Given the description of an element on the screen output the (x, y) to click on. 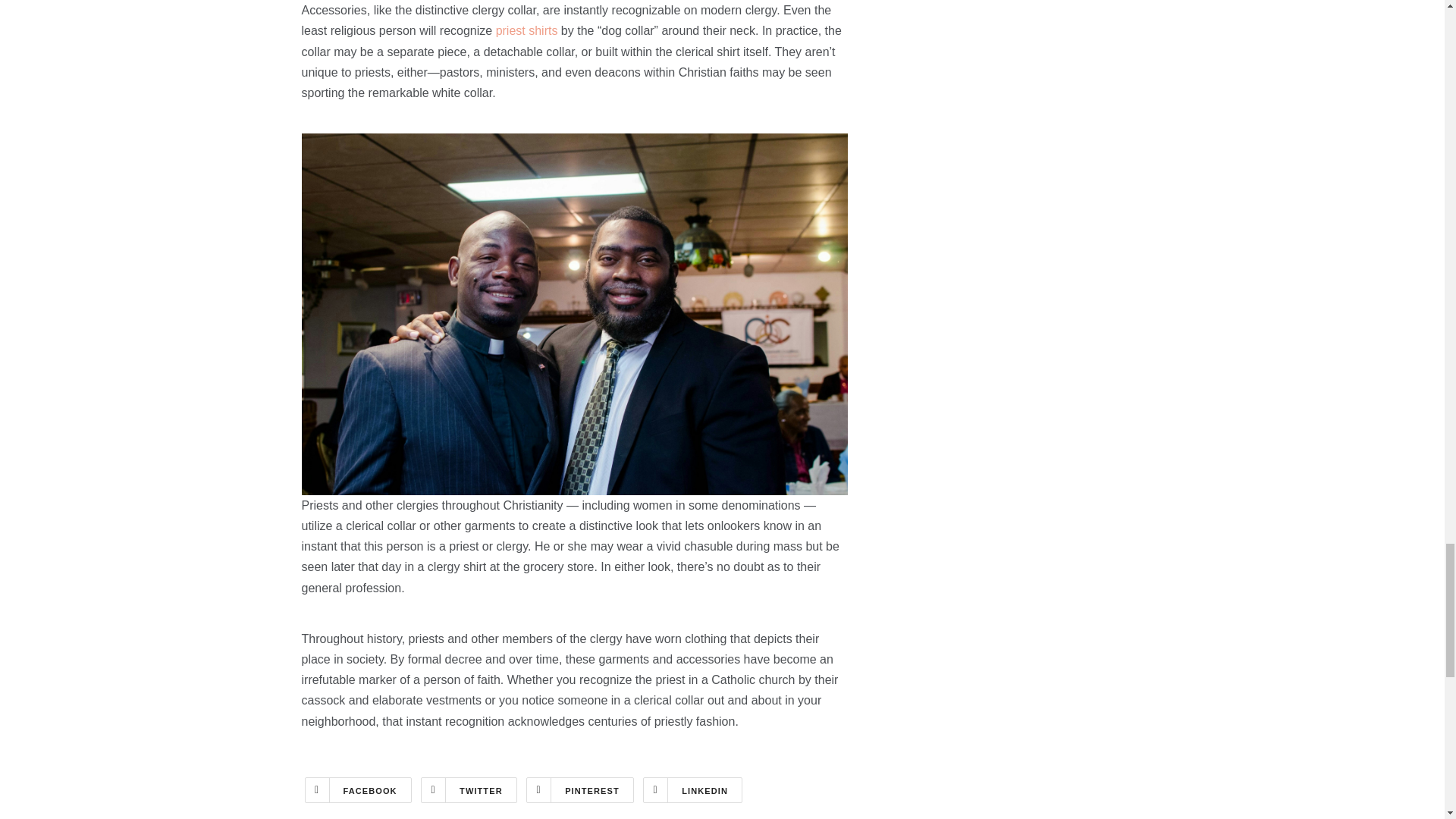
priest shirts (526, 30)
TWITTER (468, 790)
PINTEREST (579, 790)
LINKEDIN (692, 790)
FACEBOOK (358, 790)
